Given the description of an element on the screen output the (x, y) to click on. 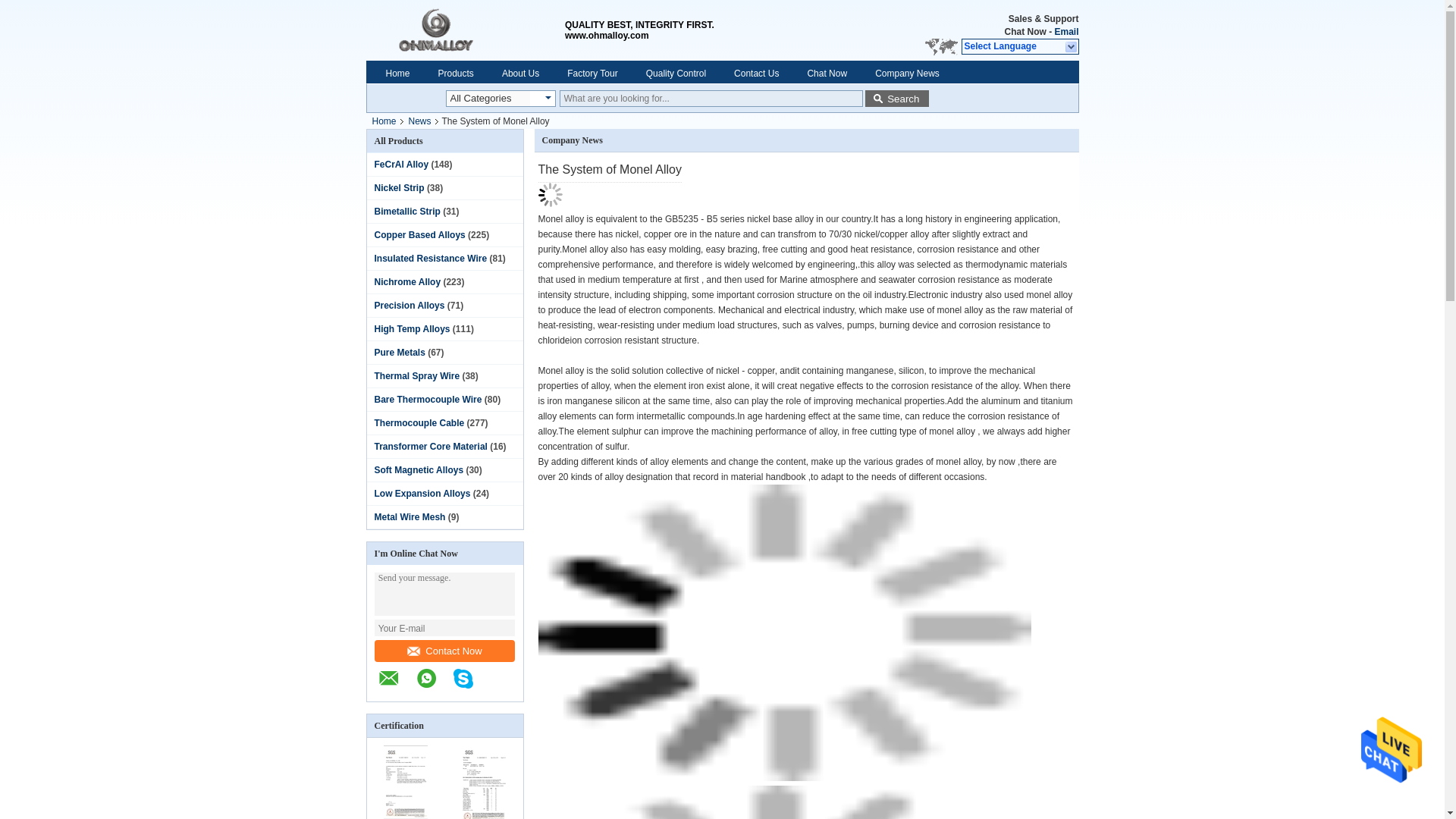
Search (896, 98)
Copper Based Alloys (419, 235)
News (420, 120)
Nickel Strip (399, 187)
Home (383, 120)
Email (1066, 31)
Insulated Resistance Wire (430, 258)
All Categories (487, 98)
Ohmalloy Material Co.,Ltd (464, 30)
Quality Control (675, 73)
Bimetallic Strip (407, 211)
Factory Tour (592, 73)
Home (398, 73)
Chat Now (1024, 31)
Products (455, 73)
